Given the description of an element on the screen output the (x, y) to click on. 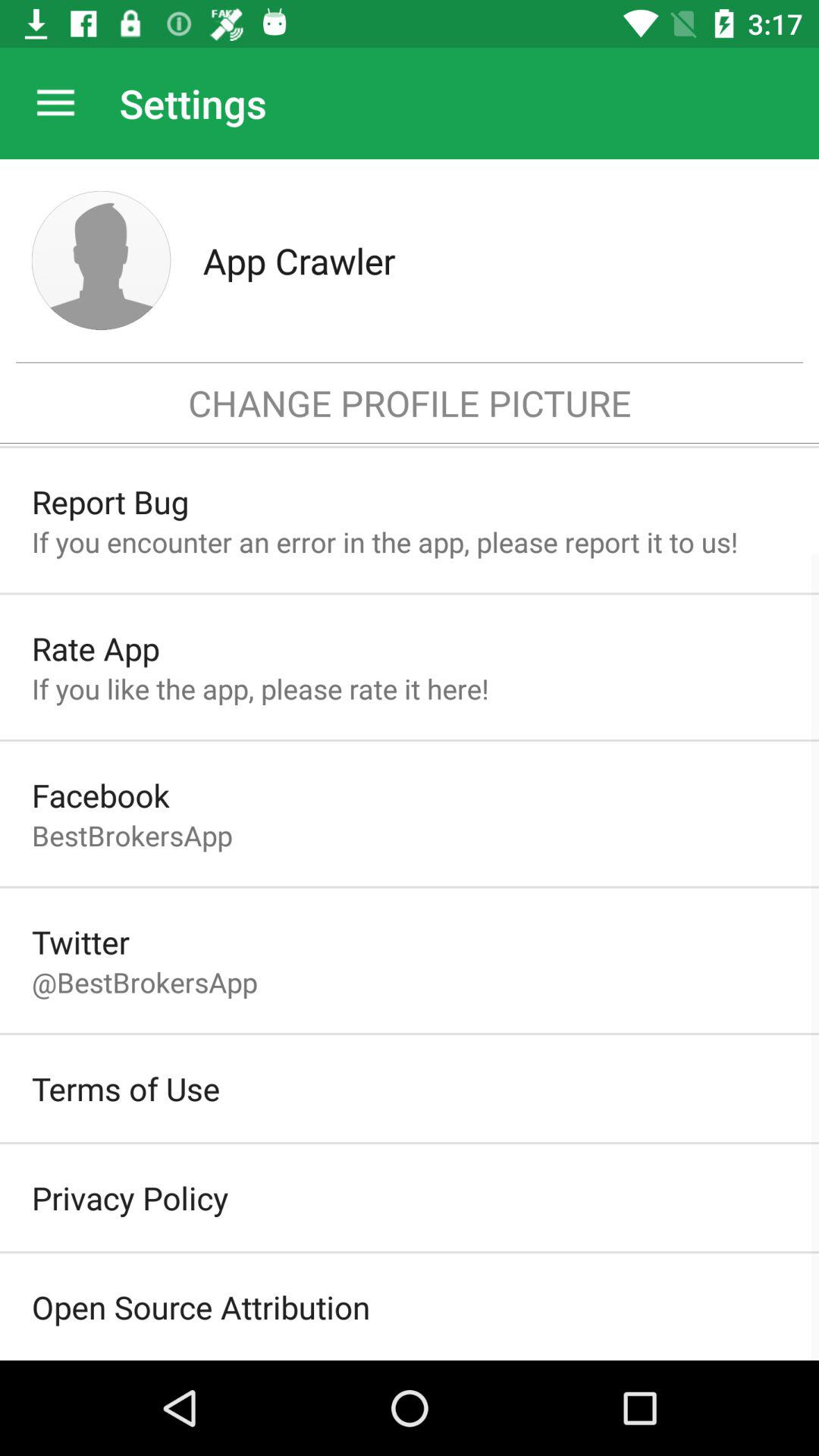
turn off the item below terms of use item (129, 1197)
